Given the description of an element on the screen output the (x, y) to click on. 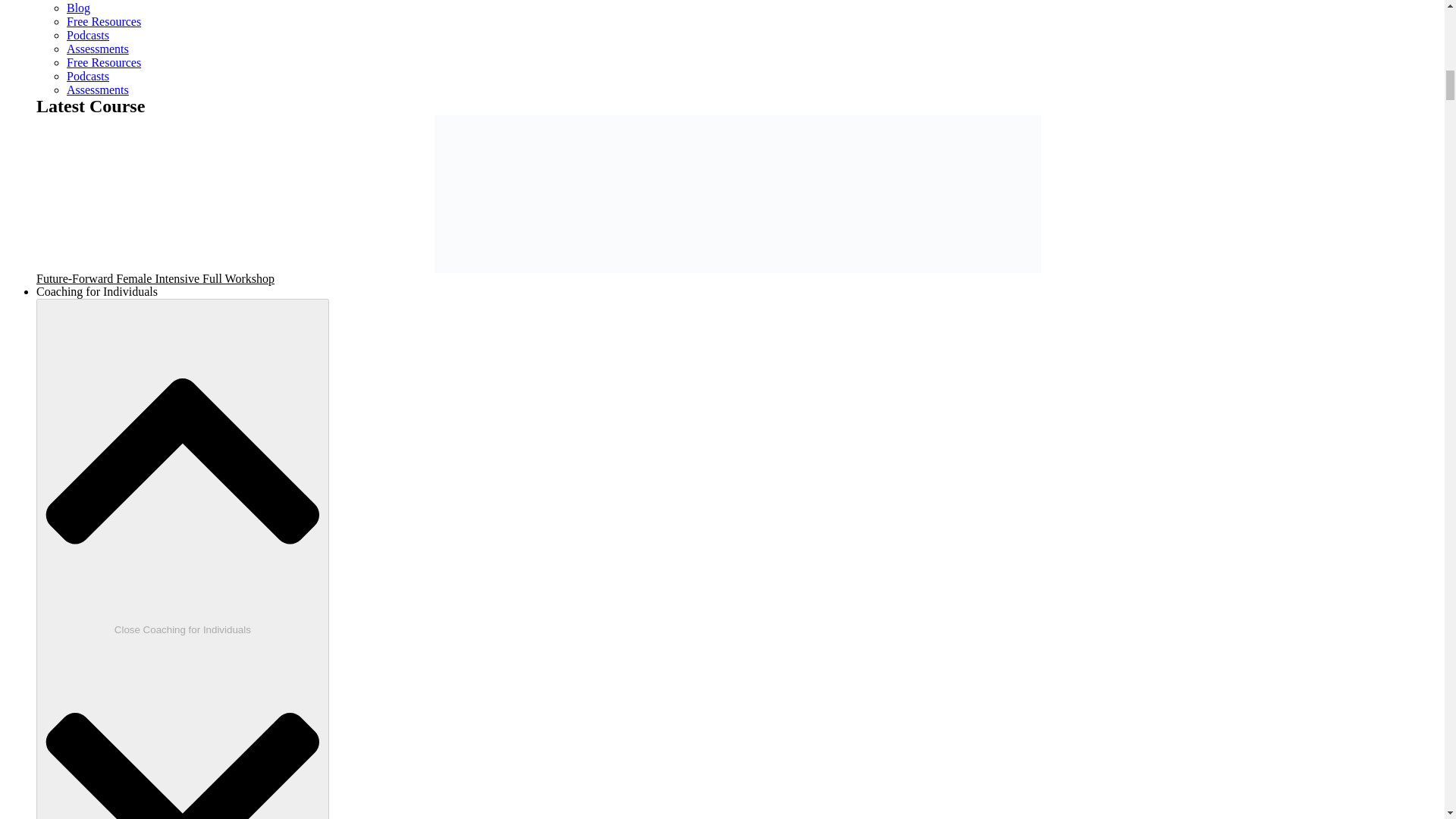
Assessments (97, 89)
Podcasts (87, 75)
Conferences (97, 0)
Free Resources (103, 62)
Blog (78, 7)
Free Resources (103, 21)
Future-Forward Female Intensive Full Workshop (155, 278)
Podcasts (87, 34)
Assessments (97, 48)
